Given the description of an element on the screen output the (x, y) to click on. 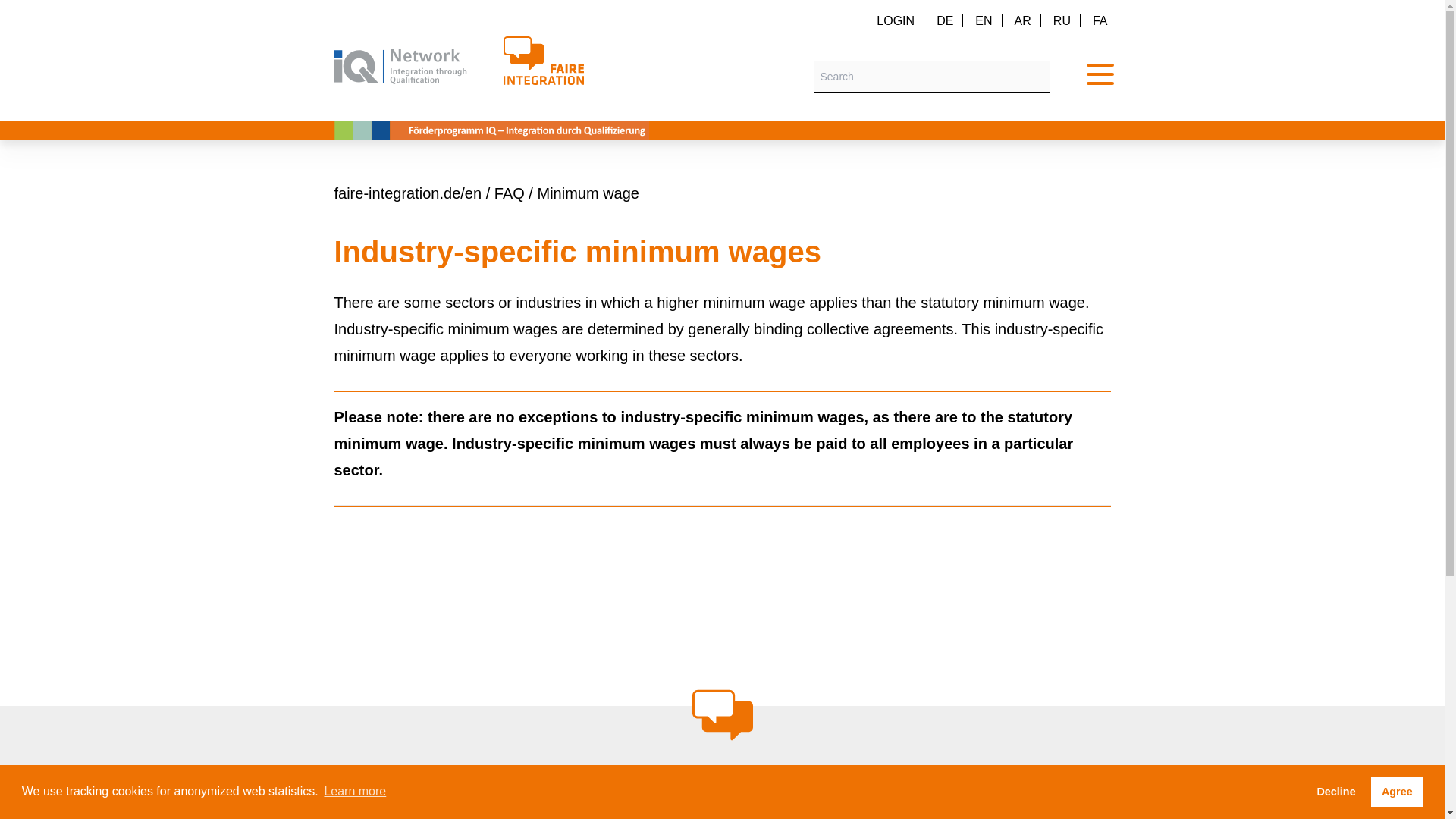
Agree (1396, 791)
Decline (1335, 791)
Learn more (354, 791)
LOGIN (895, 20)
